Given the description of an element on the screen output the (x, y) to click on. 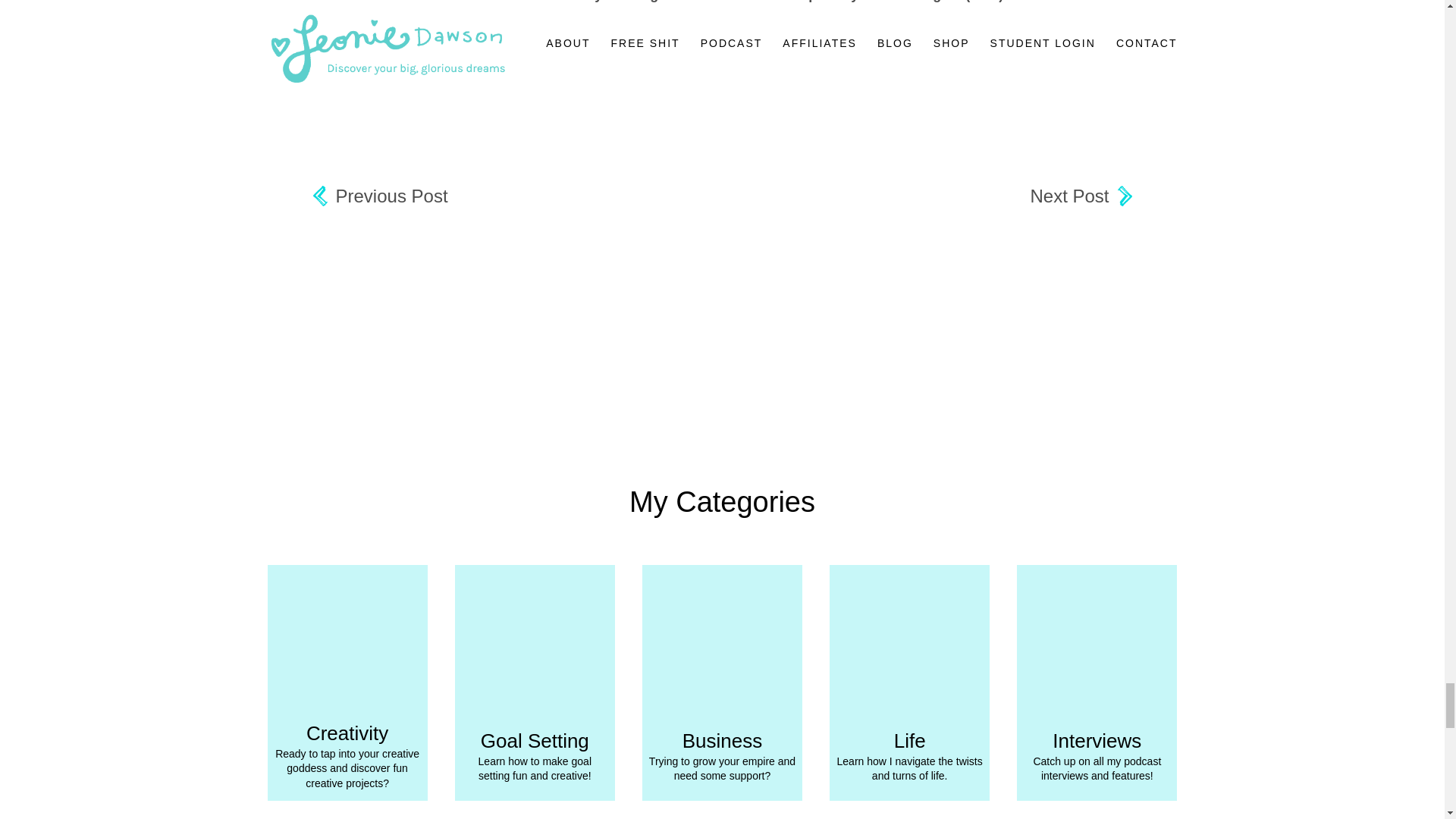
Previous Post (379, 196)
Next Post (1080, 196)
